Given the description of an element on the screen output the (x, y) to click on. 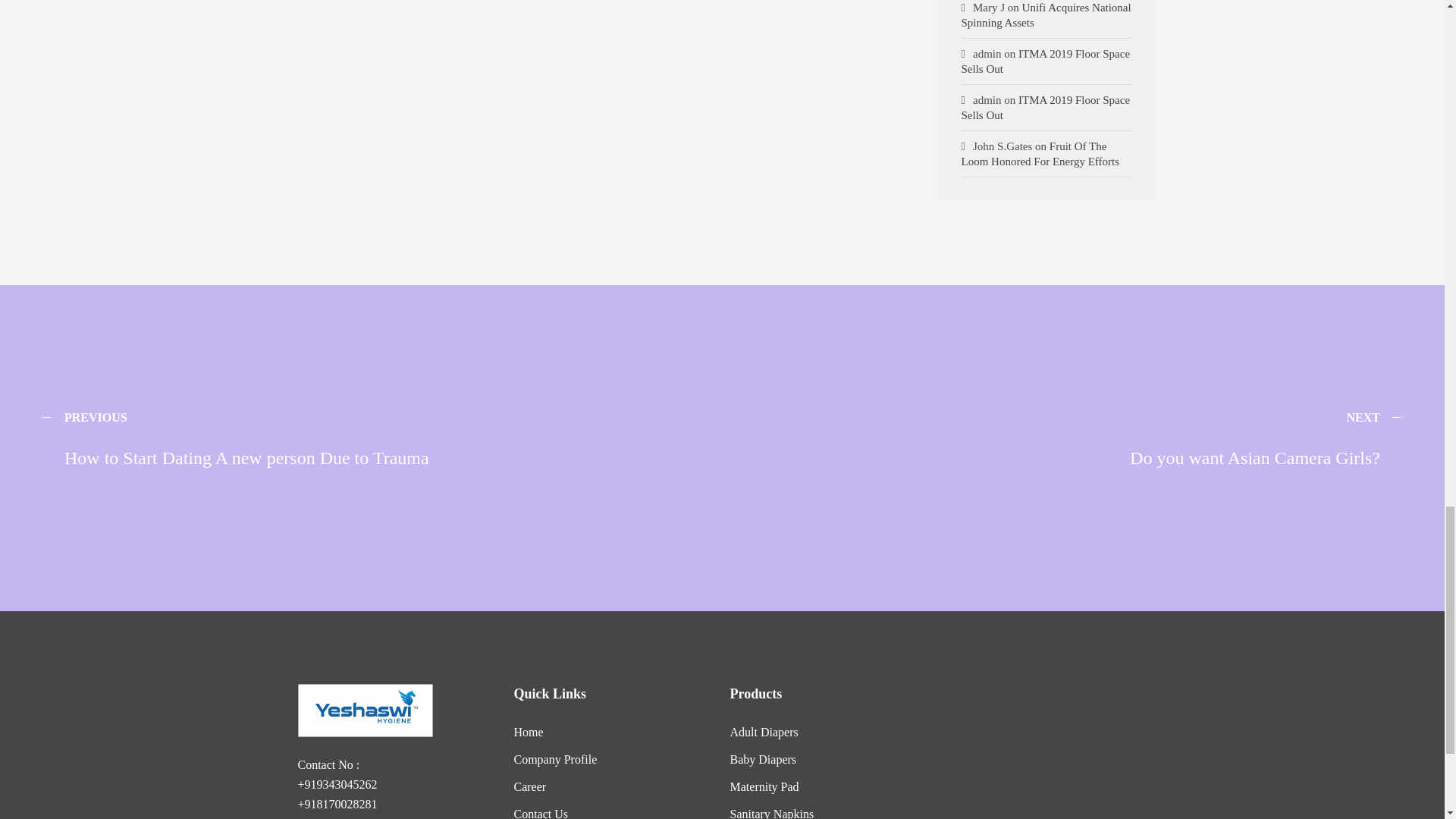
Jalahalli Village, Jalahalli, Bengaluru, Karnataka 560013 (1046, 751)
